Given the description of an element on the screen output the (x, y) to click on. 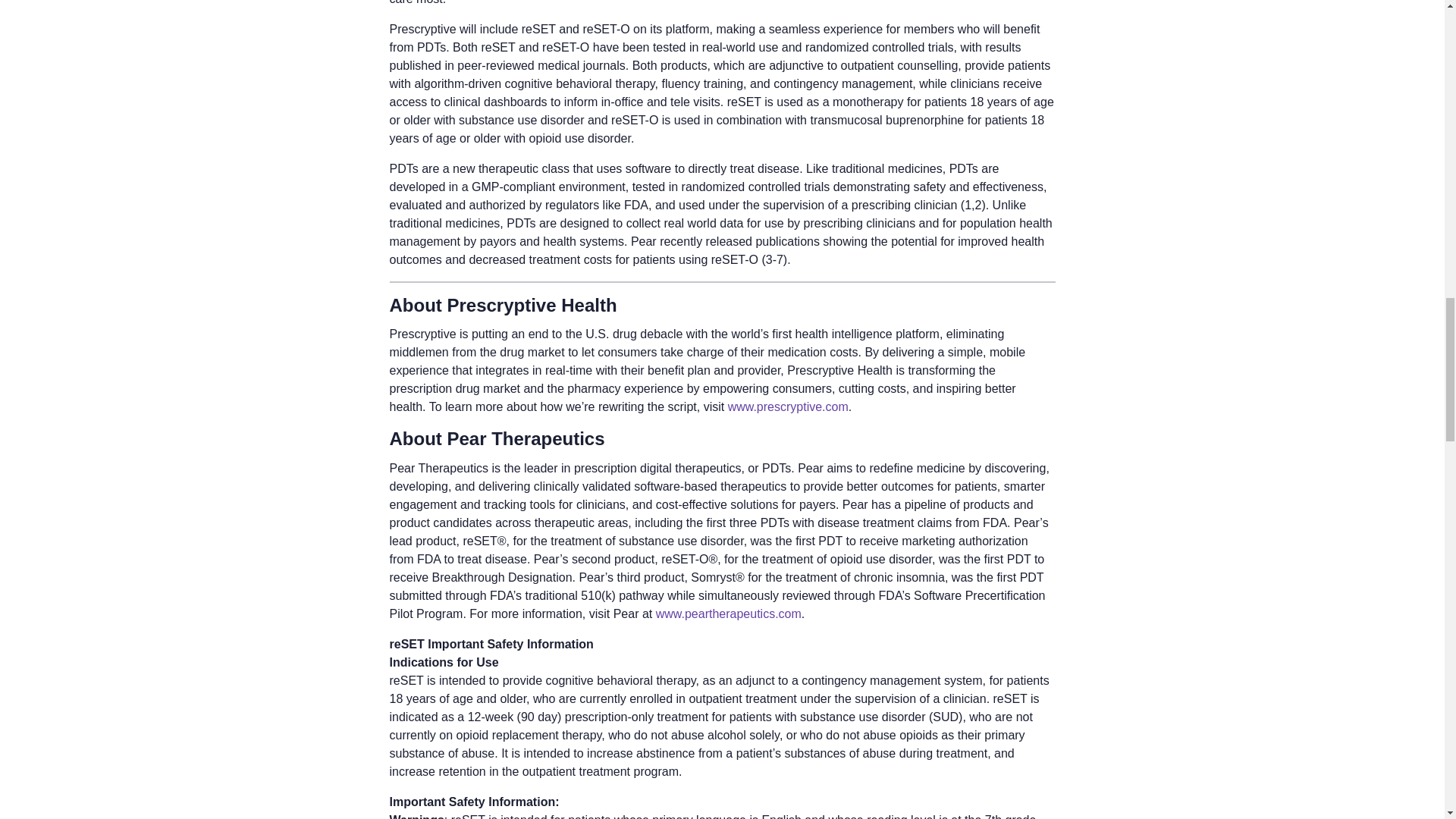
www.peartherapeutics.com (729, 613)
www.prescryptive.com (788, 406)
